Given the description of an element on the screen output the (x, y) to click on. 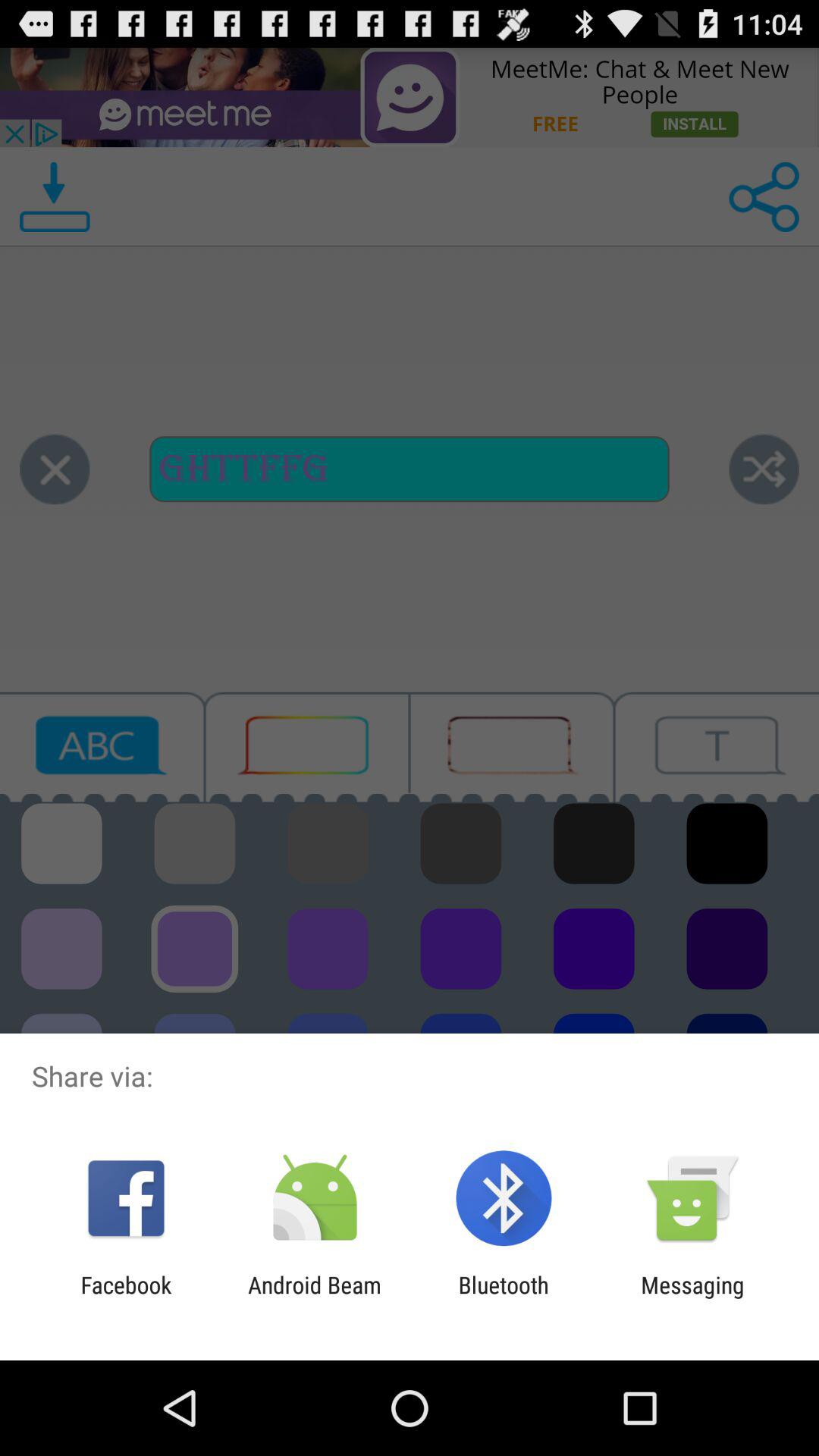
choose app next to bluetooth item (314, 1298)
